Given the description of an element on the screen output the (x, y) to click on. 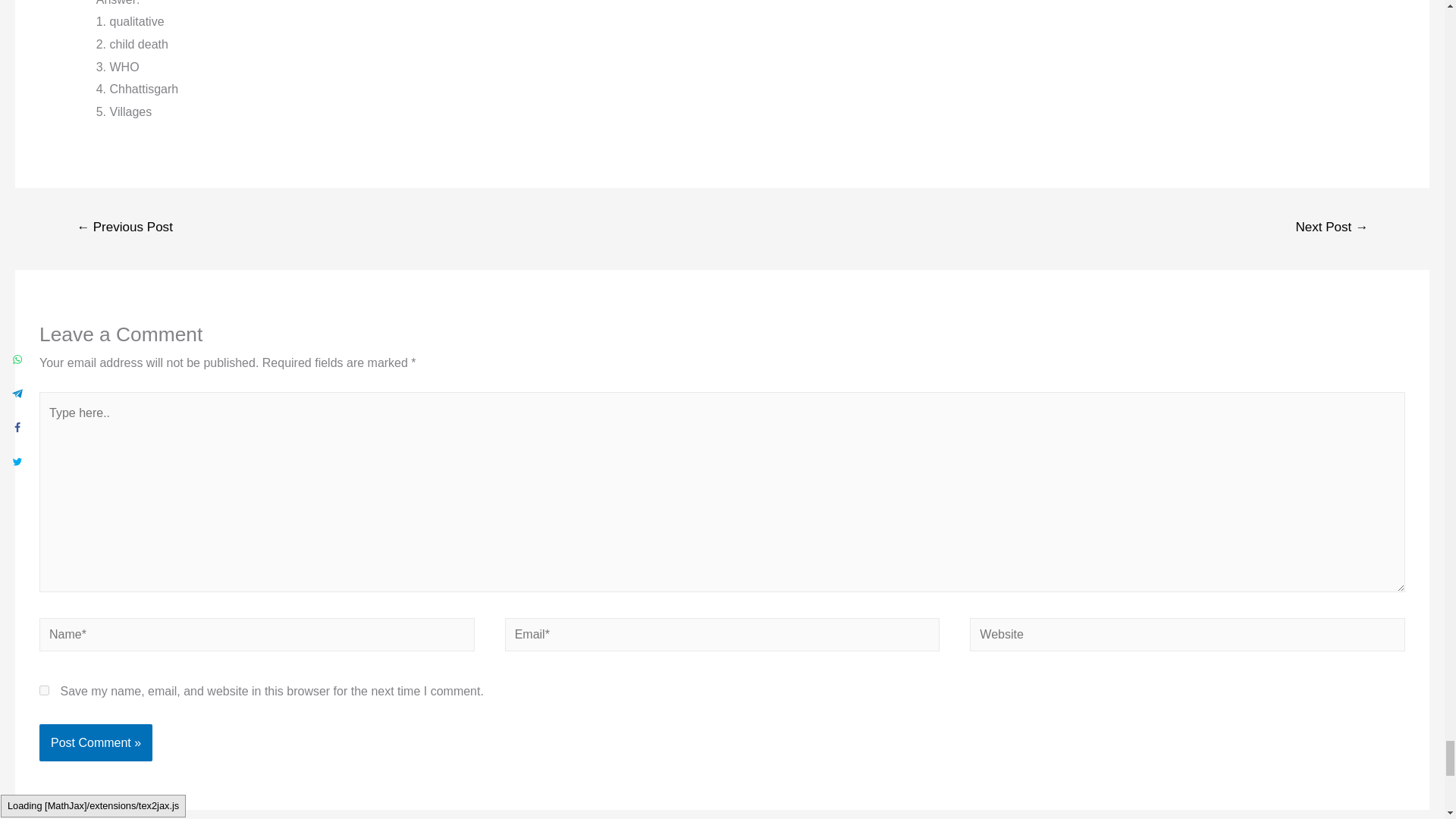
yes (44, 690)
